Given the description of an element on the screen output the (x, y) to click on. 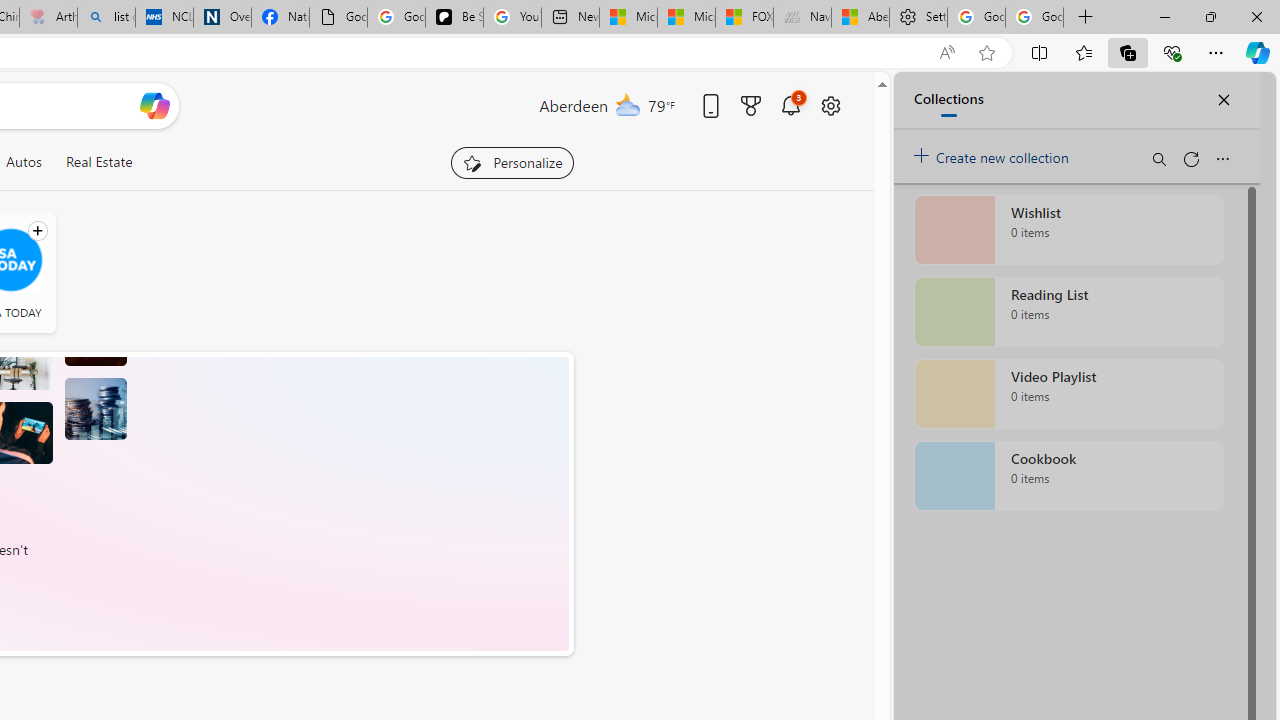
Notifications (790, 105)
Real Estate (98, 161)
Open settings (830, 105)
Autos (23, 161)
Arthritis: Ask Health Professionals - Sleeping (48, 17)
Mostly cloudy (628, 104)
list of asthma inhalers uk - Search (106, 17)
Real Estate (98, 162)
